Given the description of an element on the screen output the (x, y) to click on. 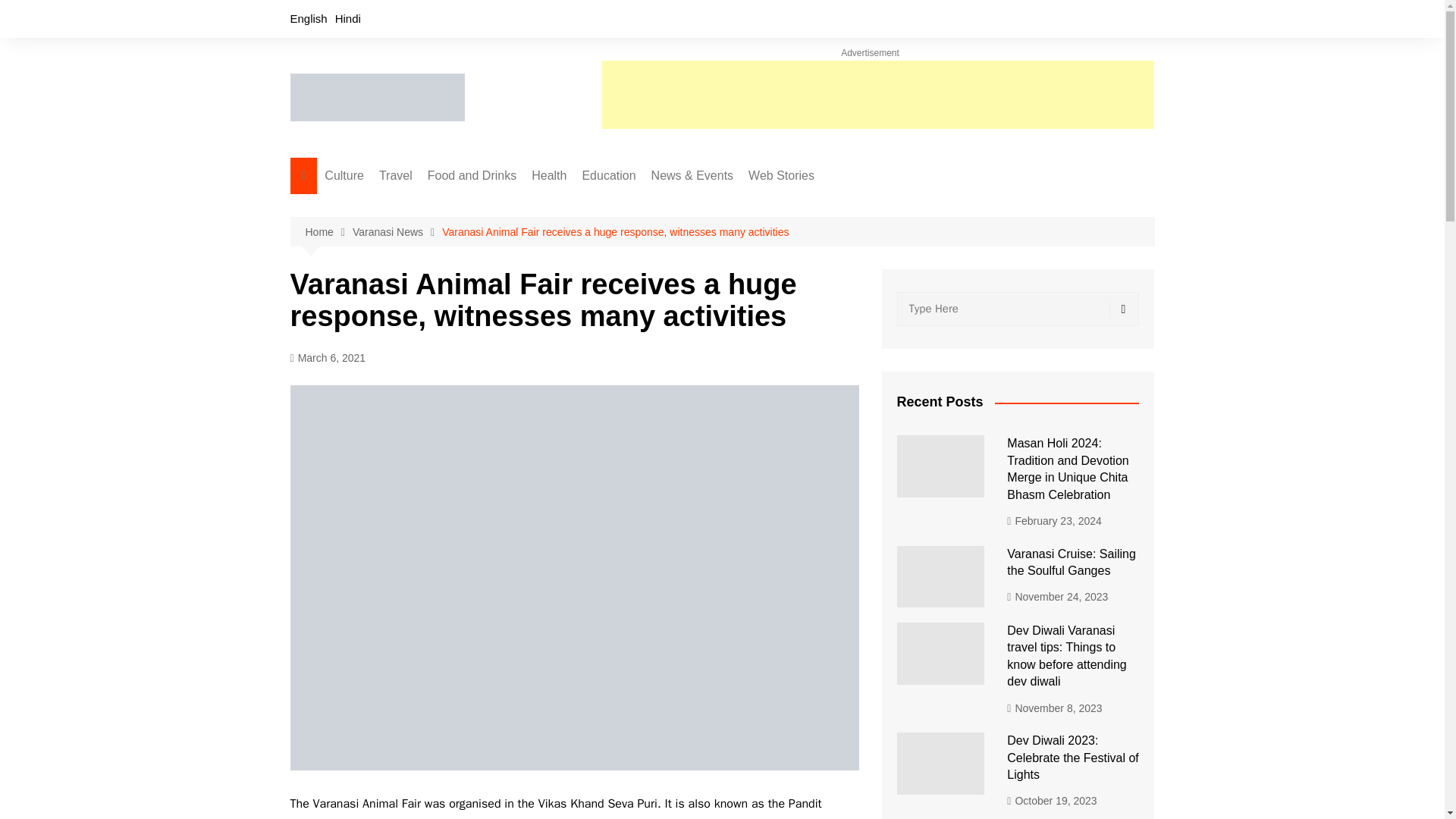
March 6, 2021 (327, 357)
Streets (454, 256)
English (307, 18)
Home (328, 231)
Travel (395, 176)
Varanasi News (397, 231)
Places (454, 281)
Hindi (347, 18)
Education (608, 176)
